Given the description of an element on the screen output the (x, y) to click on. 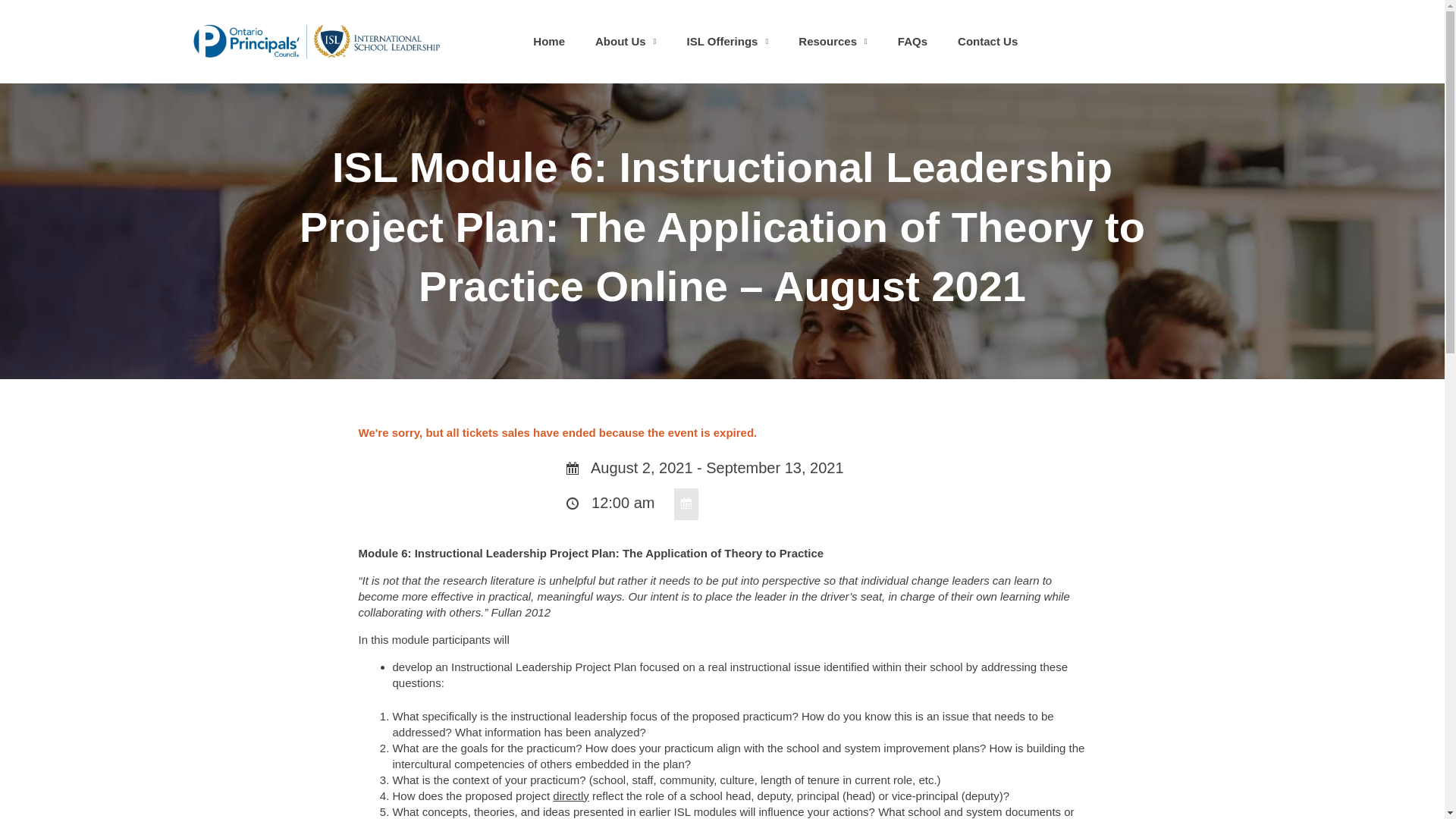
ISL Offerings (727, 41)
Contact Us (987, 41)
FAQs (912, 41)
Home (548, 41)
Resources (832, 41)
About Us (625, 41)
